Given the description of an element on the screen output the (x, y) to click on. 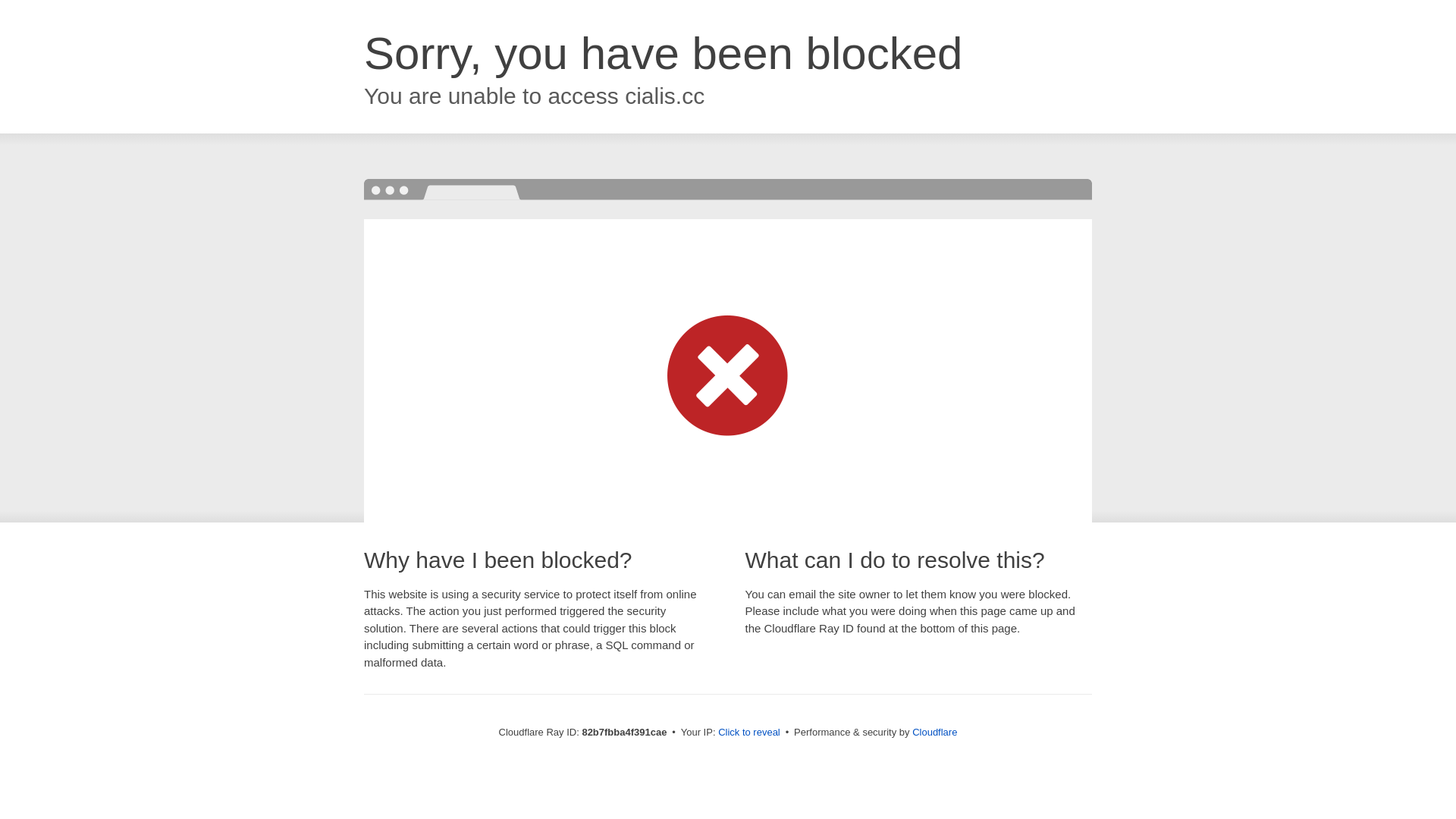
Cloudflare Element type: text (934, 731)
Click to reveal Element type: text (749, 732)
